Given the description of an element on the screen output the (x, y) to click on. 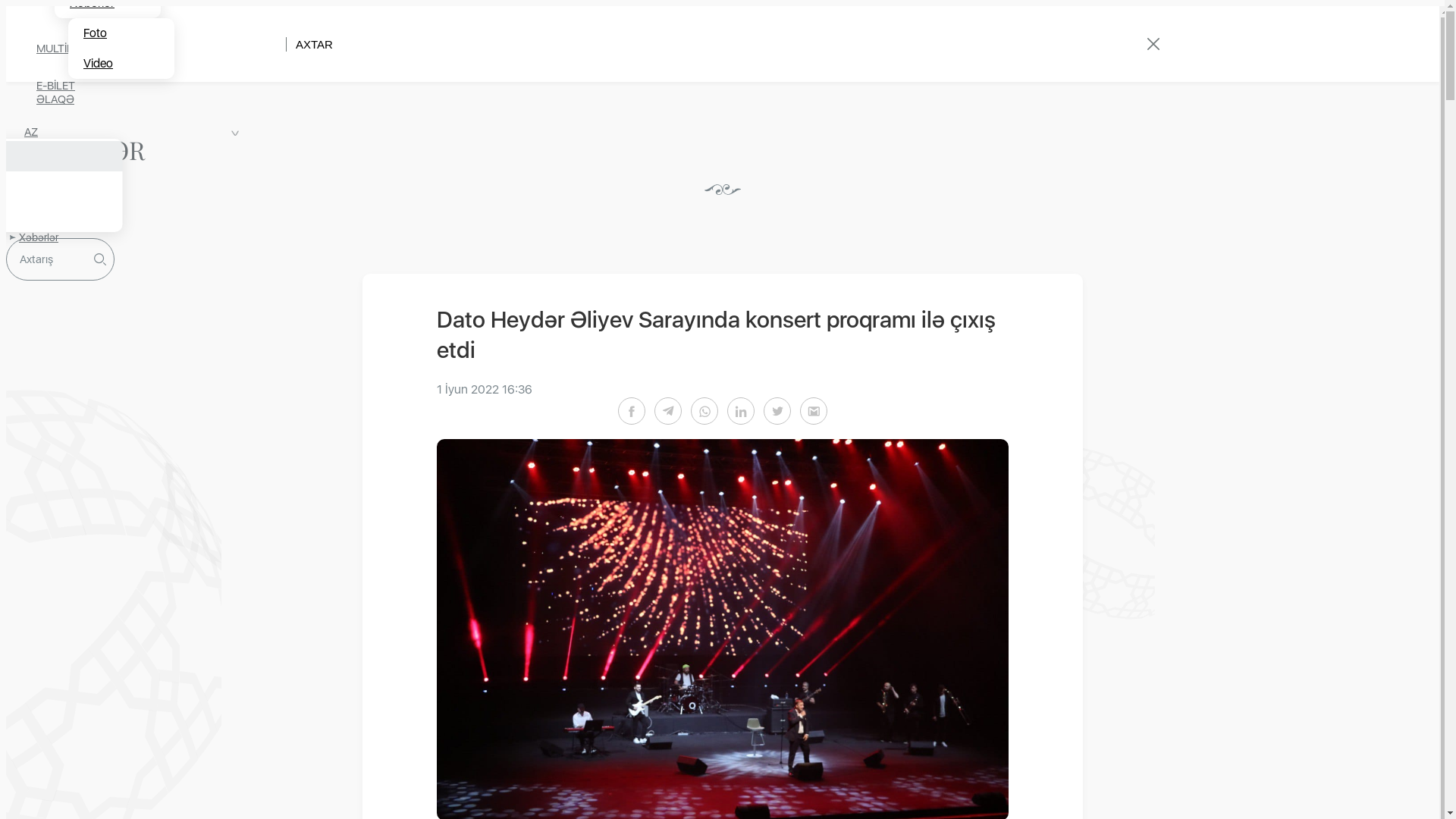
AZ Element type: text (29, 131)
MULTIMEDIA Element type: text (78, 48)
Video Element type: text (121, 63)
Foto Element type: text (121, 33)
E-BILET Element type: text (66, 85)
